Given the description of an element on the screen output the (x, y) to click on. 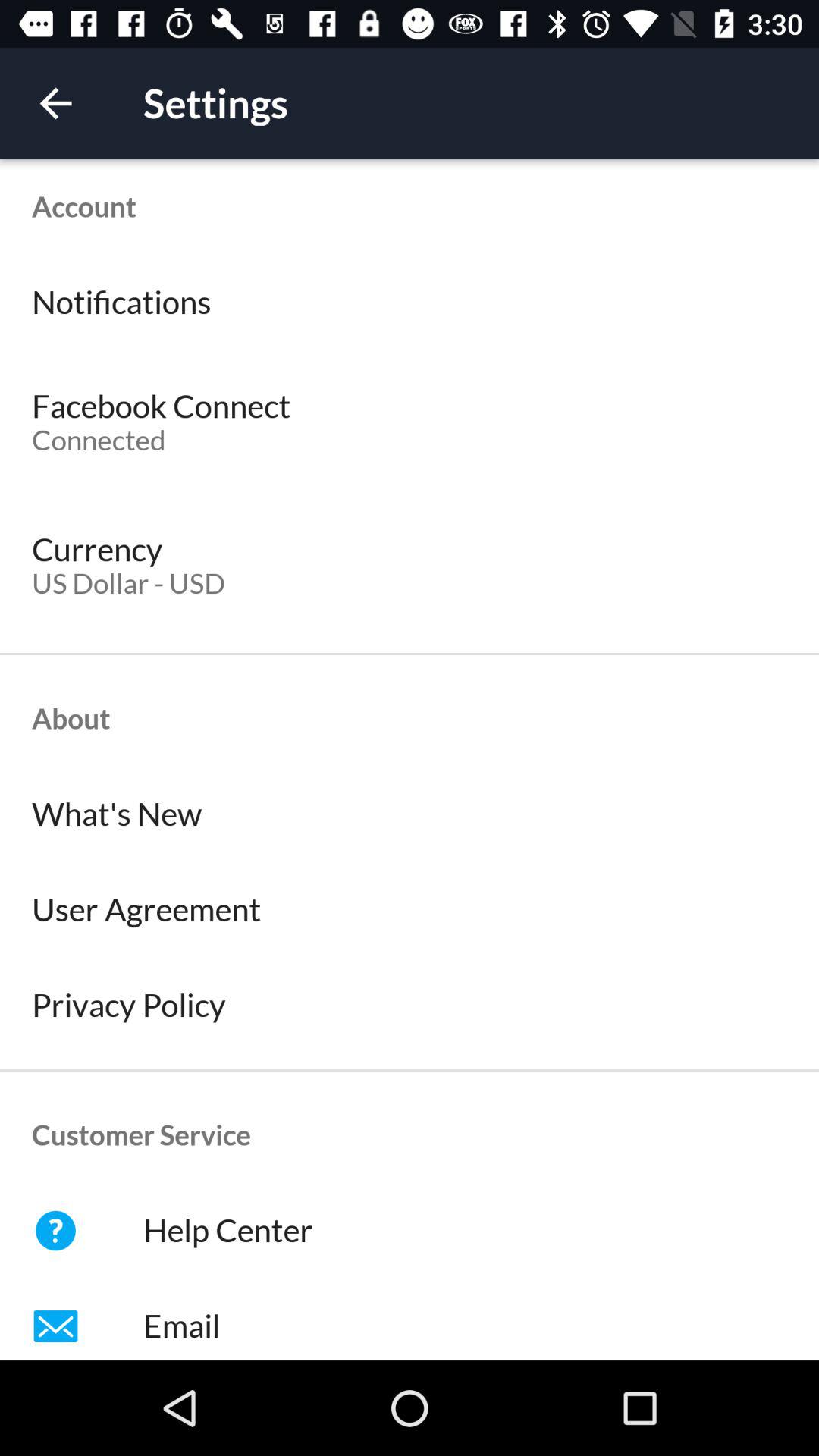
scroll until help center (409, 1230)
